Given the description of an element on the screen output the (x, y) to click on. 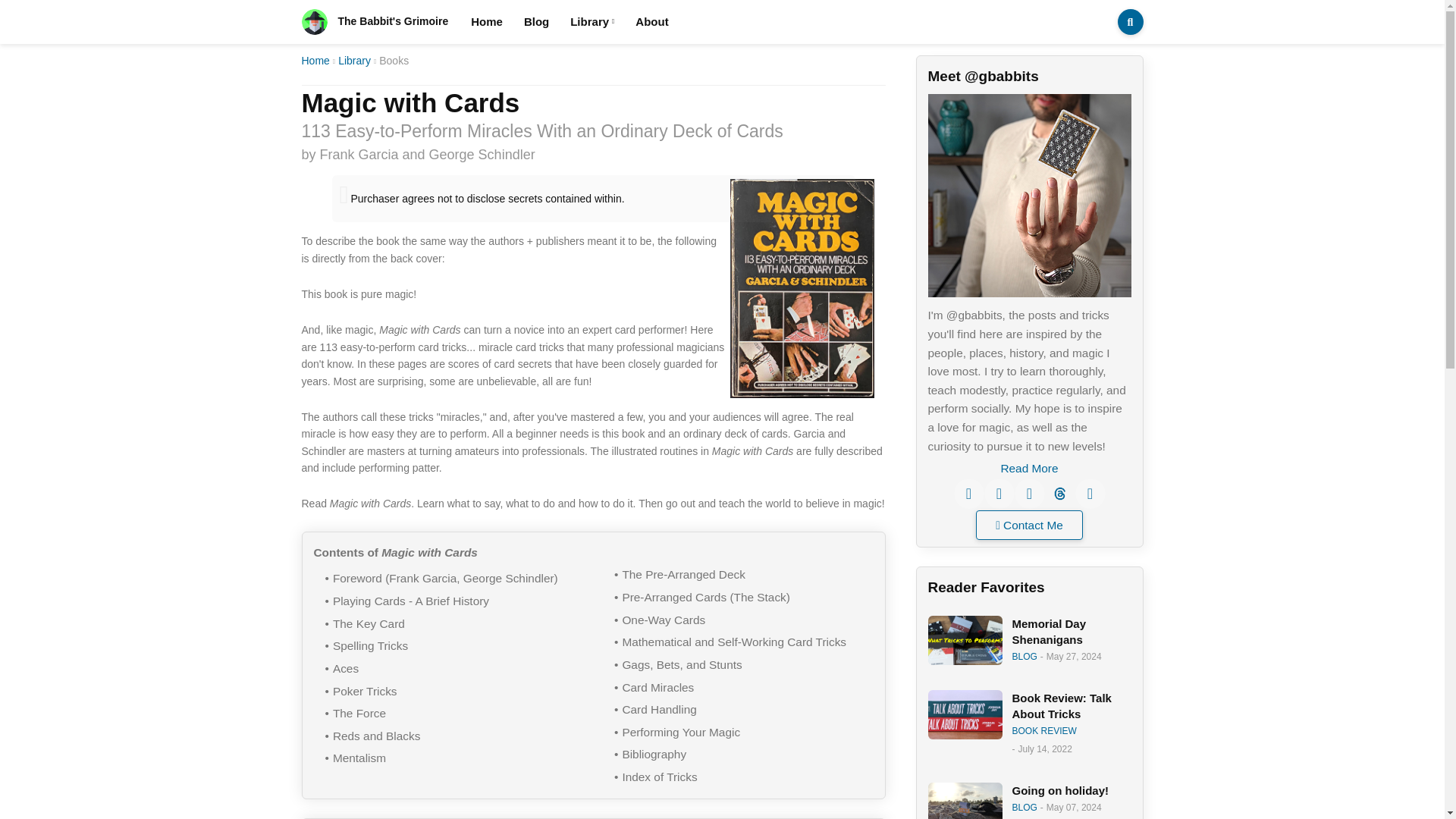
The Babbit's Grimoire (374, 22)
The Babbit's Grimoire (314, 22)
Home (486, 22)
Books (393, 60)
Blog (536, 22)
Read More (1029, 468)
Search (1130, 22)
Home (315, 60)
About (651, 22)
Library (591, 22)
